Given the description of an element on the screen output the (x, y) to click on. 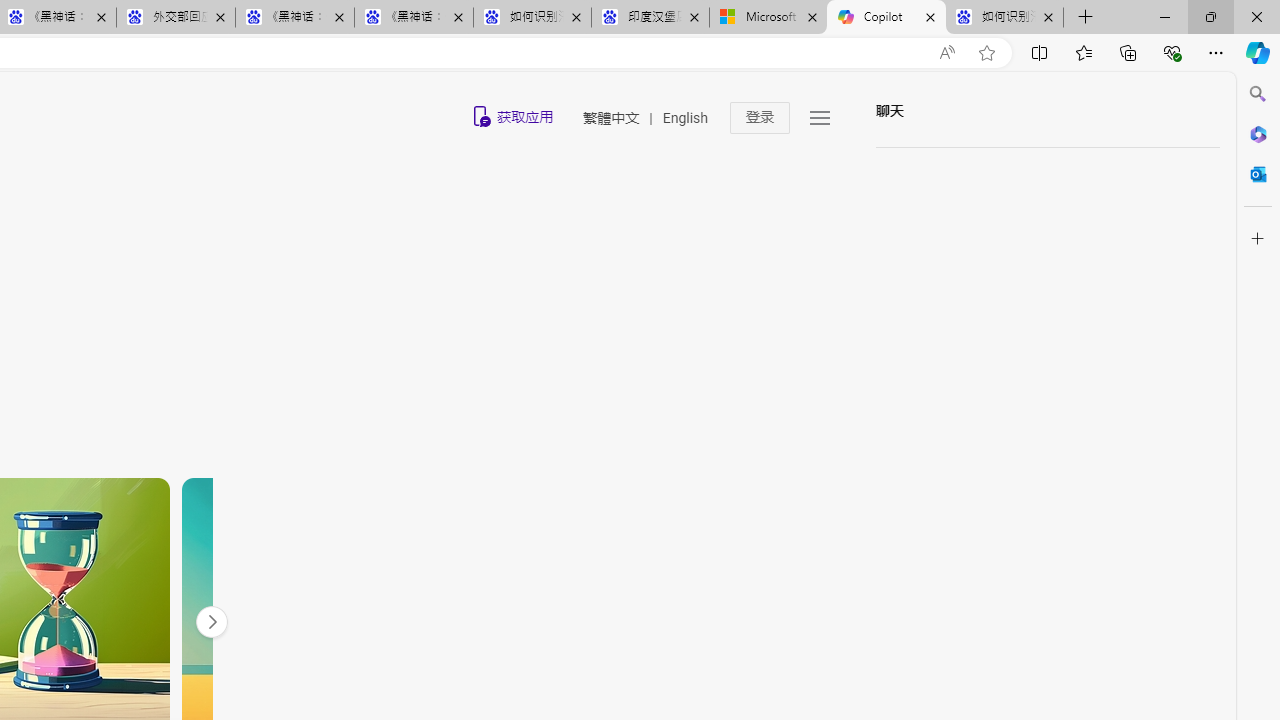
English (684, 118)
